Given the description of an element on the screen output the (x, y) to click on. 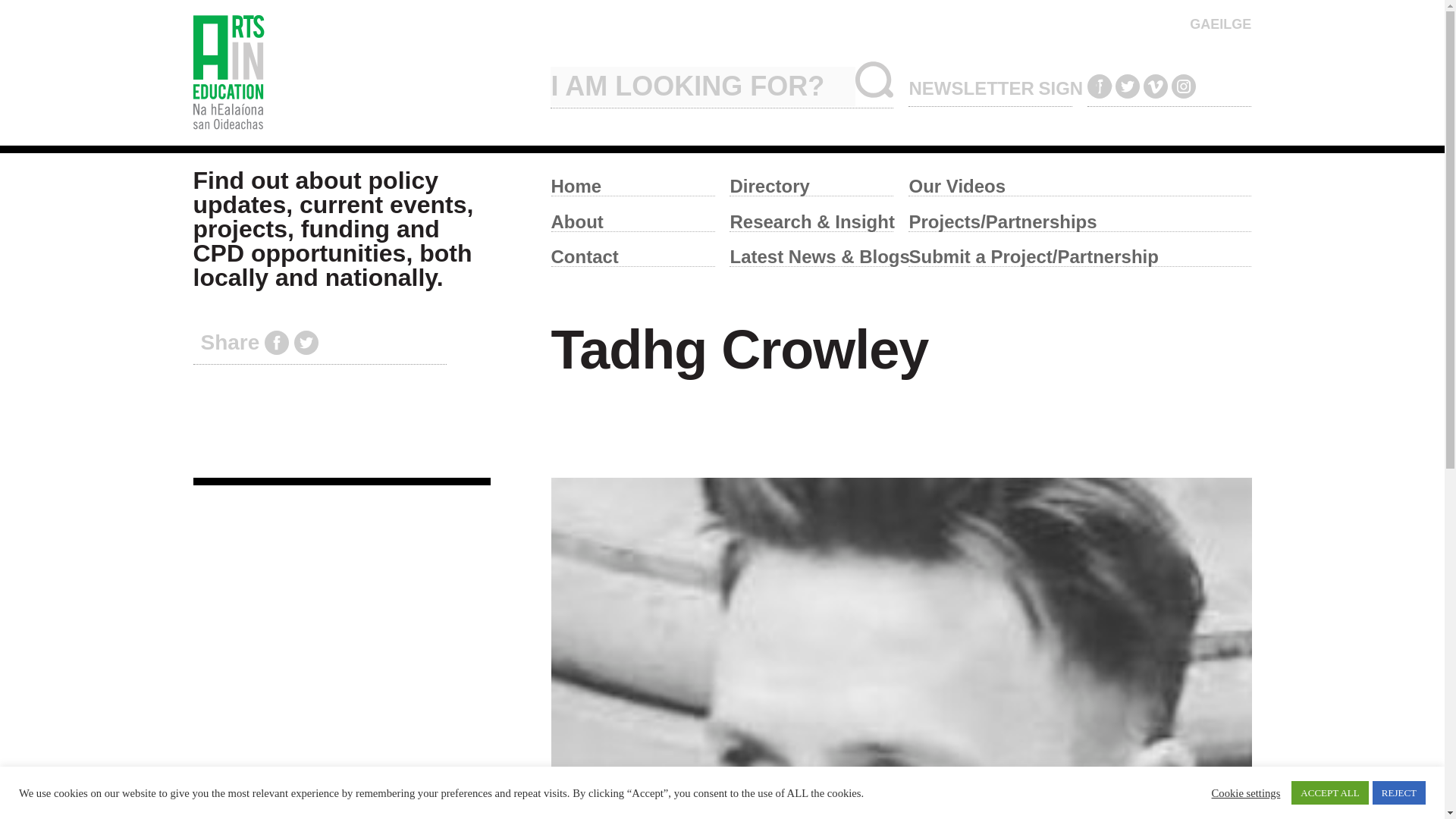
Share on Twitter (306, 342)
REJECT (1399, 792)
Share on Facebook (276, 342)
Search (874, 79)
About (632, 216)
ACCEPT ALL (1329, 792)
Arts in Education (363, 72)
Cookie settings (1246, 792)
Follow us on Instagram (1183, 86)
Our Videos (1079, 181)
Watch us on Vimeo (1154, 86)
I AM LOOKING FOR? (703, 86)
Contact (632, 252)
Search (874, 79)
Home (632, 181)
